Given the description of an element on the screen output the (x, y) to click on. 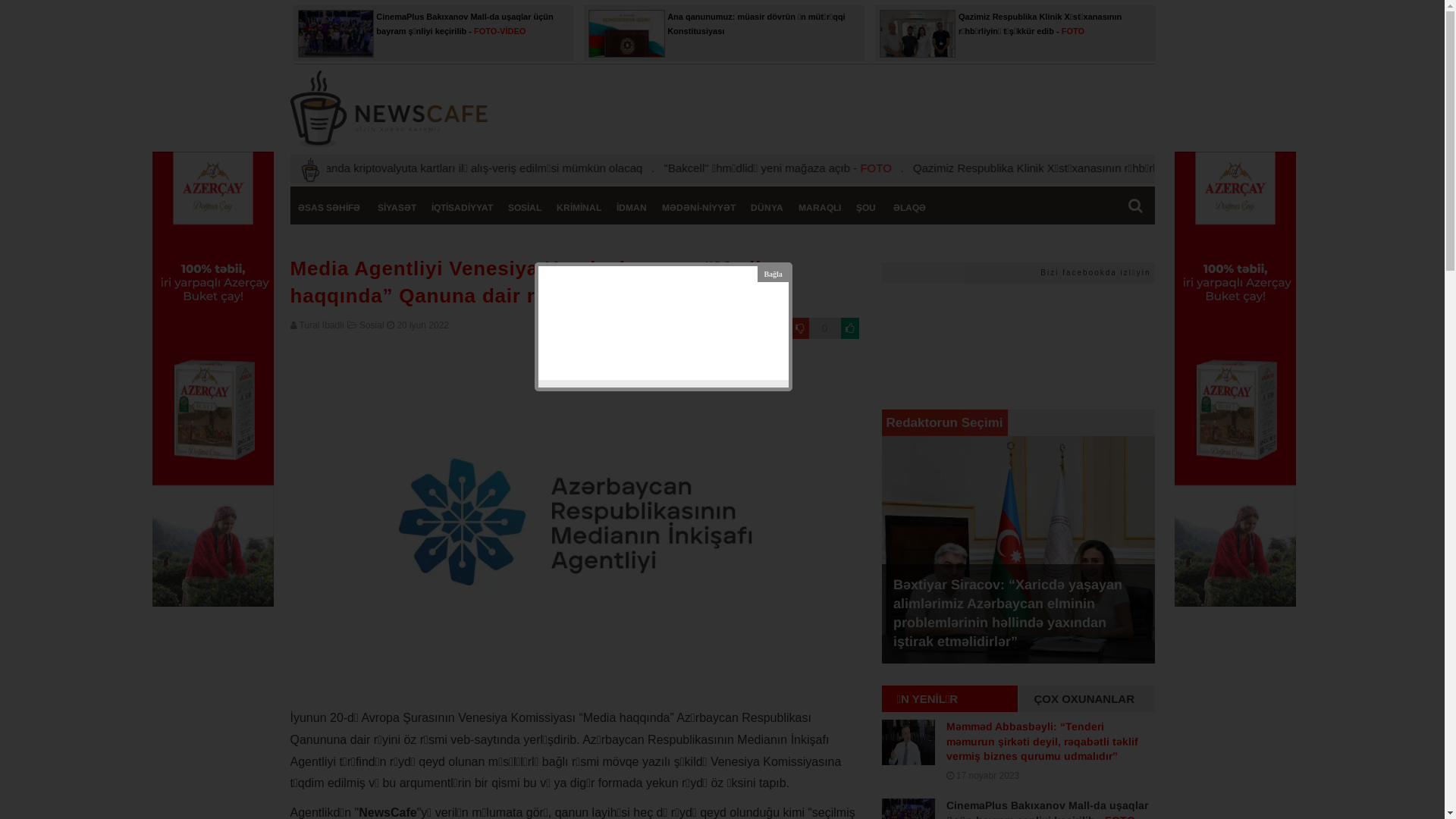
fb:page Facebook Social Plugin Element type: hover (1013, 331)
KRIMINAL Element type: text (578, 207)
MARAQLI Element type: text (818, 207)
SOSIAL Element type: text (524, 207)
